Given the description of an element on the screen output the (x, y) to click on. 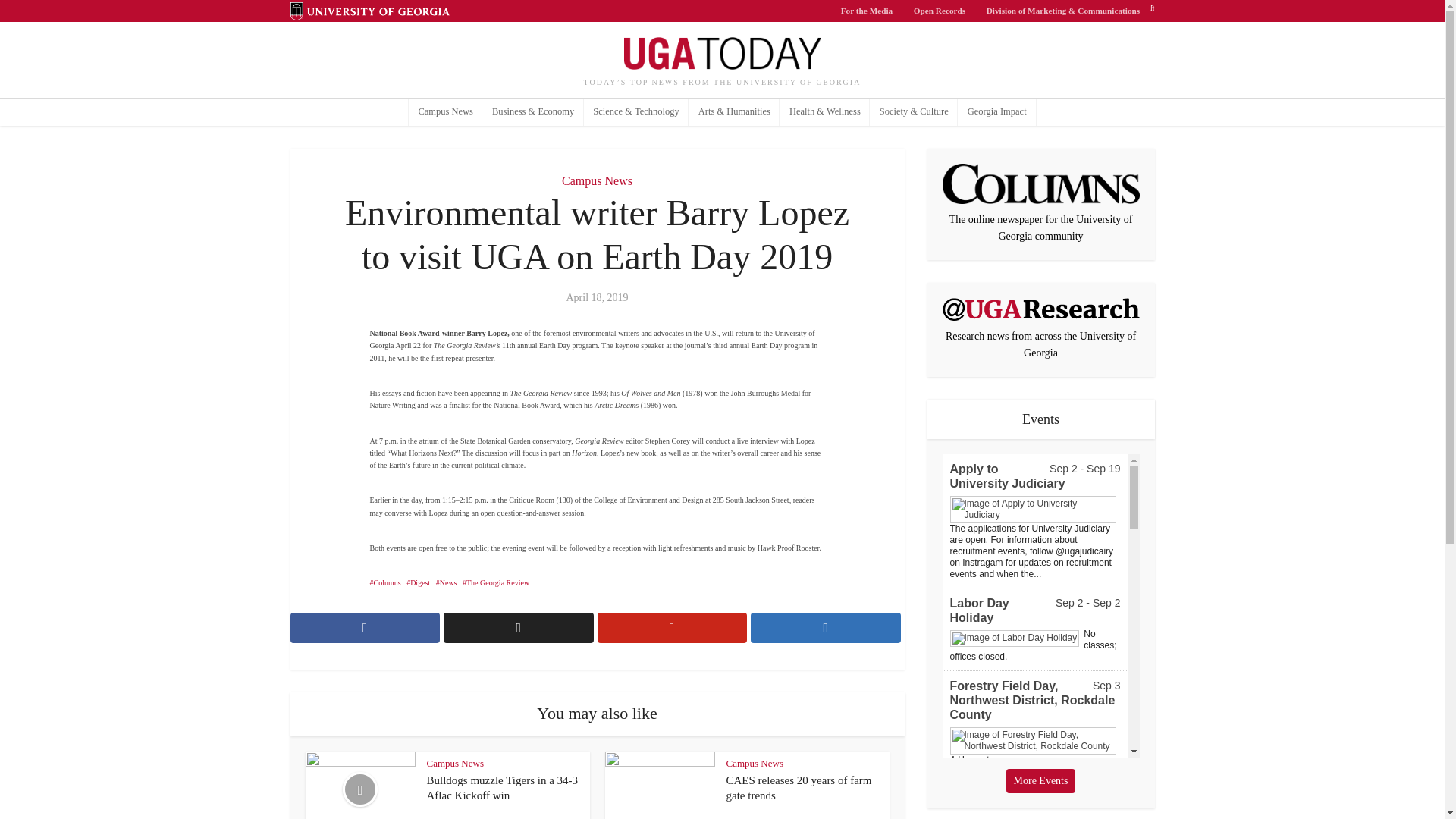
Open Records (939, 10)
Bulldogs muzzle Tigers in a 34-3 Aflac Kickoff win (502, 787)
Campus News (754, 763)
Georgia Impact (996, 112)
For the Media (866, 10)
Campus News (596, 180)
Digest (417, 582)
Columns (385, 582)
CAES releases 20 years of farm gate trends (799, 787)
CAES releases 20 years of farm gate trends (799, 787)
